Given the description of an element on the screen output the (x, y) to click on. 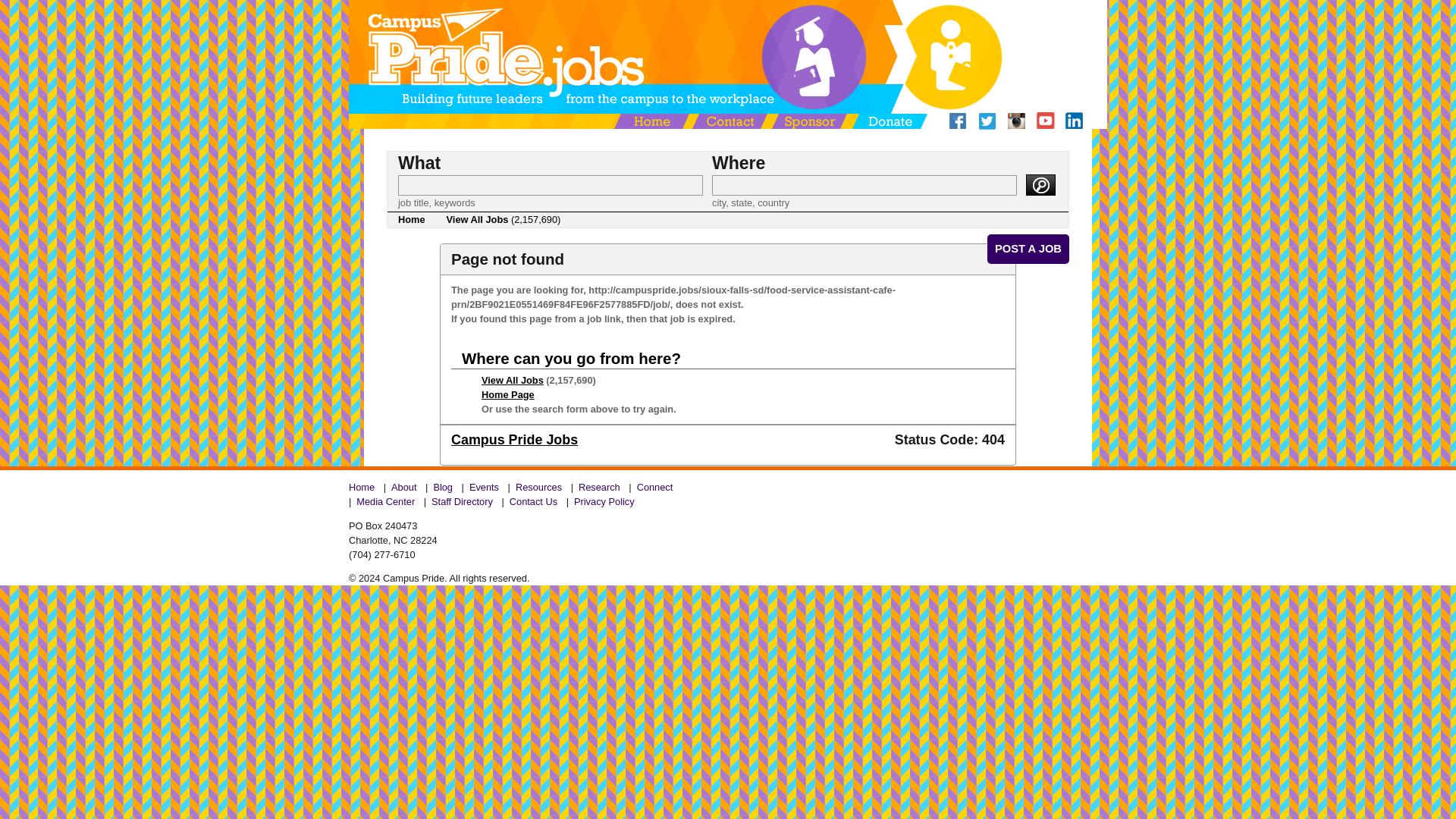
Submit Search (1040, 184)
Staff Directory (462, 501)
Campus Pride Jobs (514, 439)
Search Location (863, 185)
Search Phrase (550, 185)
Resources (539, 487)
search (1040, 184)
About (403, 487)
Media Center (385, 501)
View All Jobs (512, 379)
POST A JOB (1027, 248)
Connect (655, 487)
Home (364, 487)
Contact Us (533, 501)
search (1040, 184)
